Given the description of an element on the screen output the (x, y) to click on. 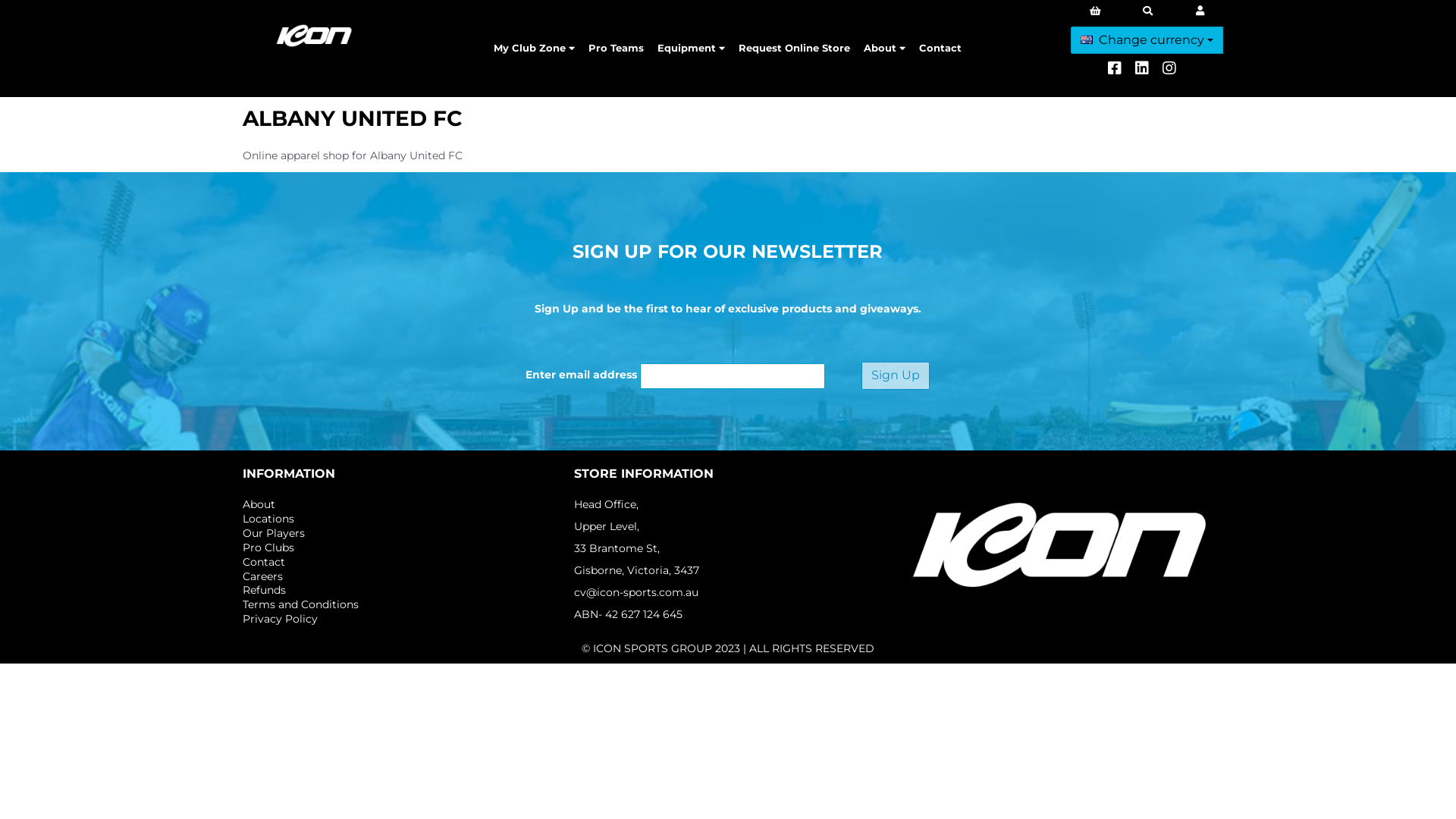
Pro Clubs Element type: text (268, 547)
Refunds Element type: text (263, 589)
Locations Element type: text (268, 518)
Contact Element type: text (940, 48)
Privacy Policy Element type: text (279, 618)
Request Online Store Element type: text (793, 48)
Contact Element type: text (263, 561)
Sign Up Element type: text (895, 375)
Equipment Element type: text (690, 48)
About Element type: text (258, 504)
Pro Teams Element type: text (615, 48)
About Element type: text (884, 48)
Careers Element type: text (262, 576)
Our Players Element type: text (273, 532)
My Club Zone Element type: text (533, 48)
Terms and Conditions Element type: text (300, 604)
